Given the description of an element on the screen output the (x, y) to click on. 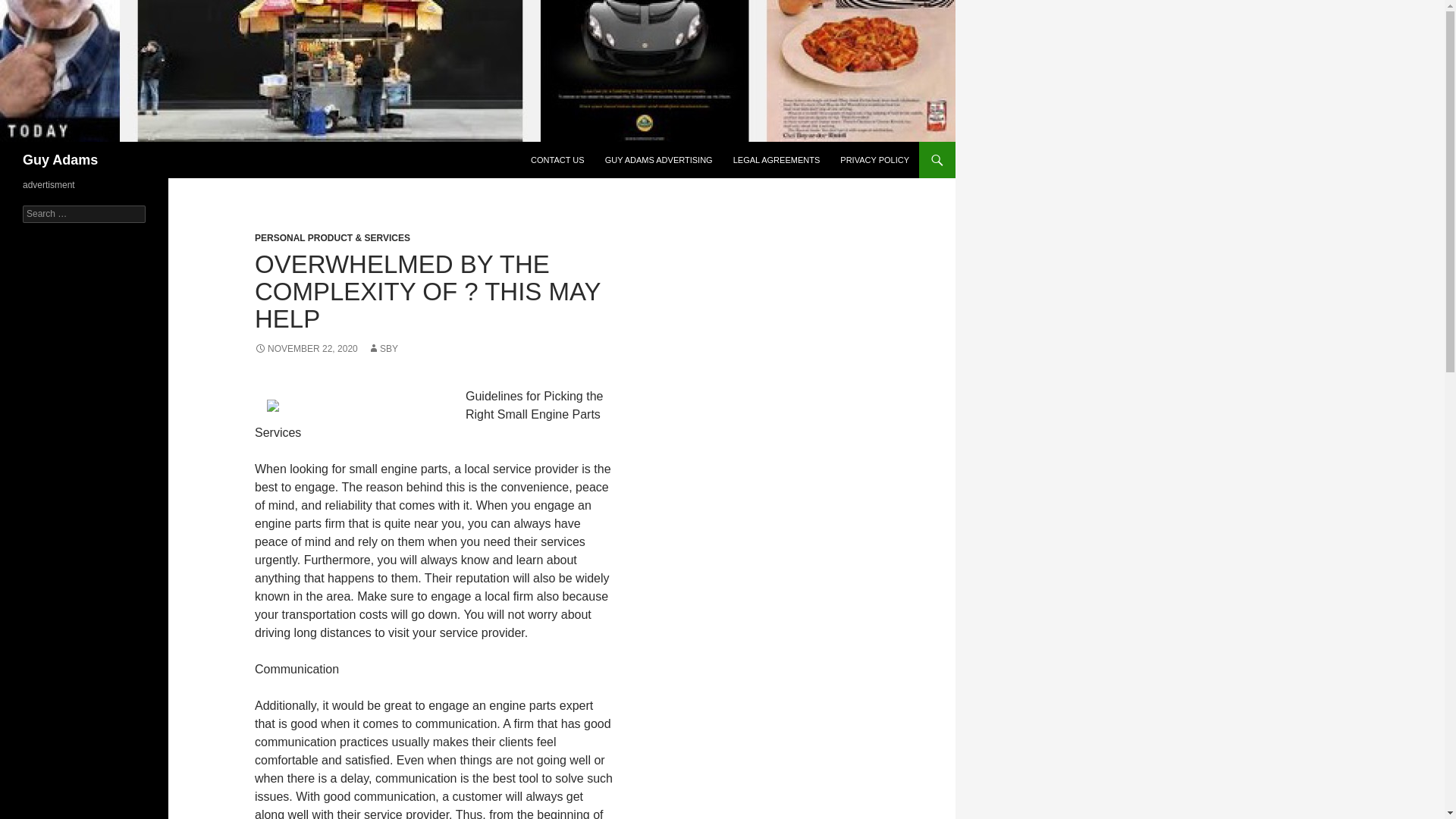
LEGAL AGREEMENTS (776, 159)
Guy Adams (60, 159)
Search (30, 8)
SBY (382, 348)
CONTACT US (557, 159)
PRIVACY POLICY (874, 159)
NOVEMBER 22, 2020 (306, 348)
GUY ADAMS ADVERTISING (658, 159)
